Given the description of an element on the screen output the (x, y) to click on. 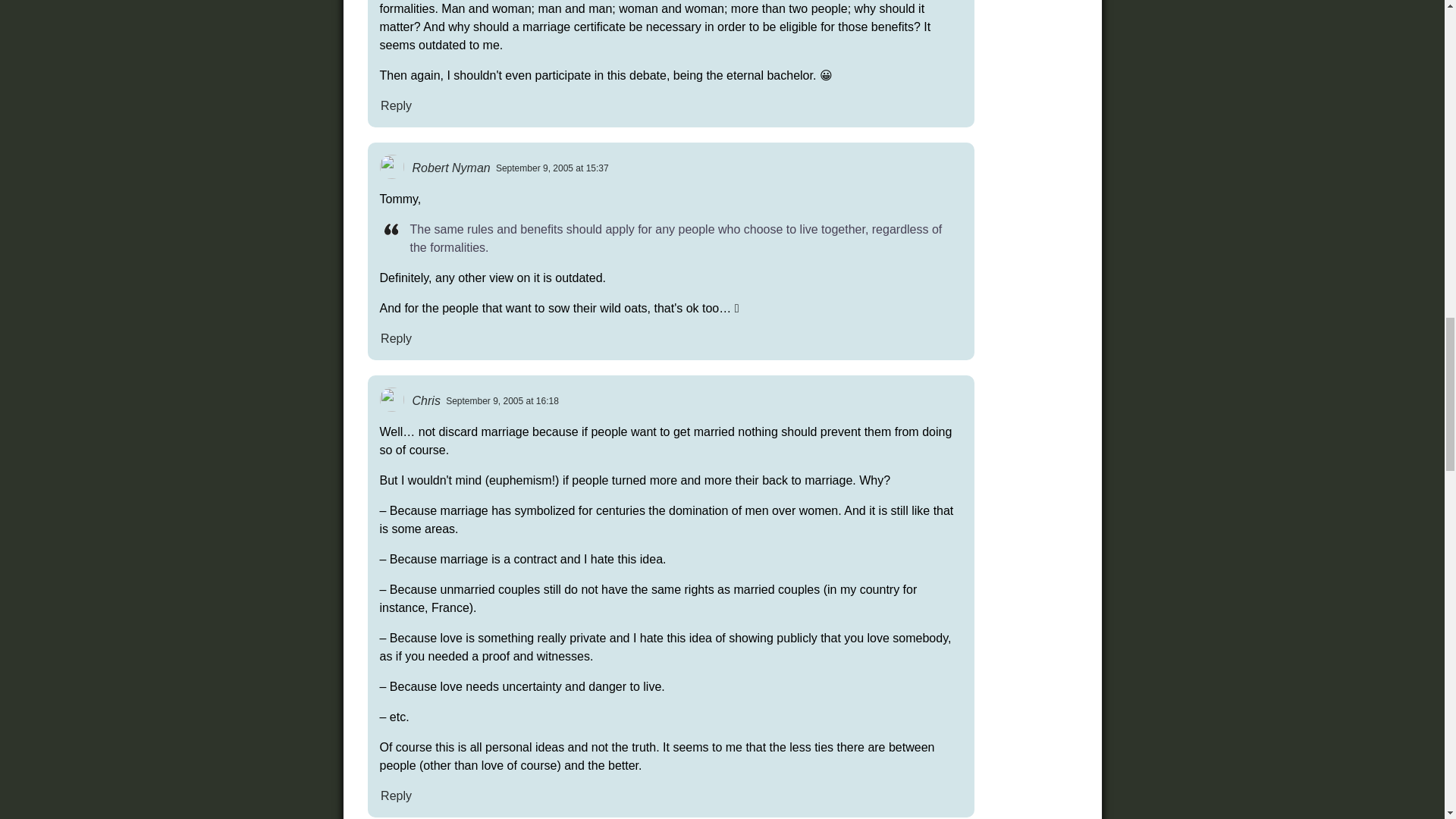
Robert Nyman (451, 167)
September 9, 2005 at 16:18 (502, 400)
Reply (395, 105)
September 9, 2005 at 15:37 (552, 168)
Reply (395, 795)
Chris (426, 400)
Reply (395, 337)
